Given the description of an element on the screen output the (x, y) to click on. 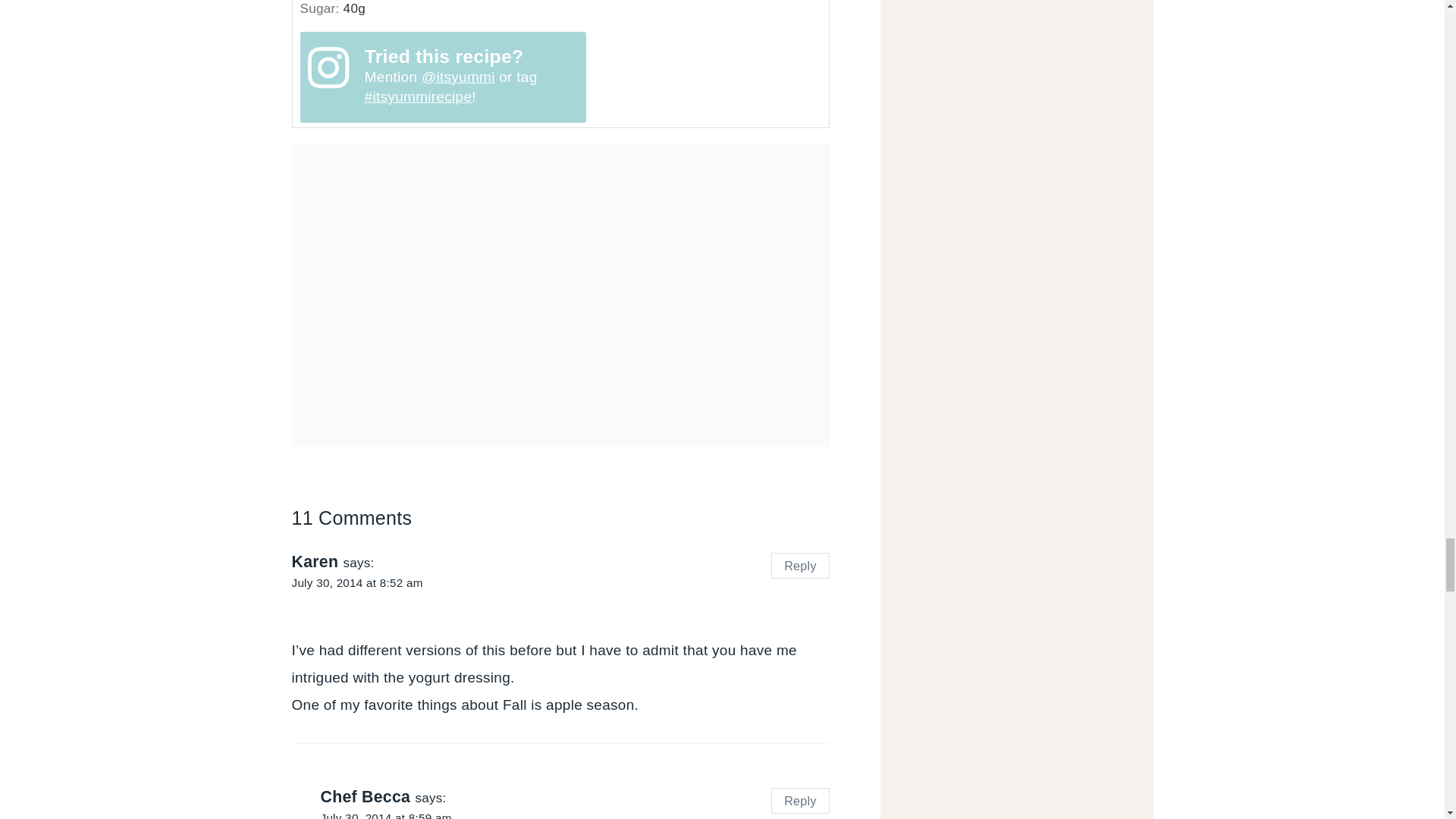
July 30, 2014 at 8:52 am (356, 582)
Reply (800, 800)
Reply (800, 565)
July 30, 2014 at 8:59 am (385, 815)
